Given the description of an element on the screen output the (x, y) to click on. 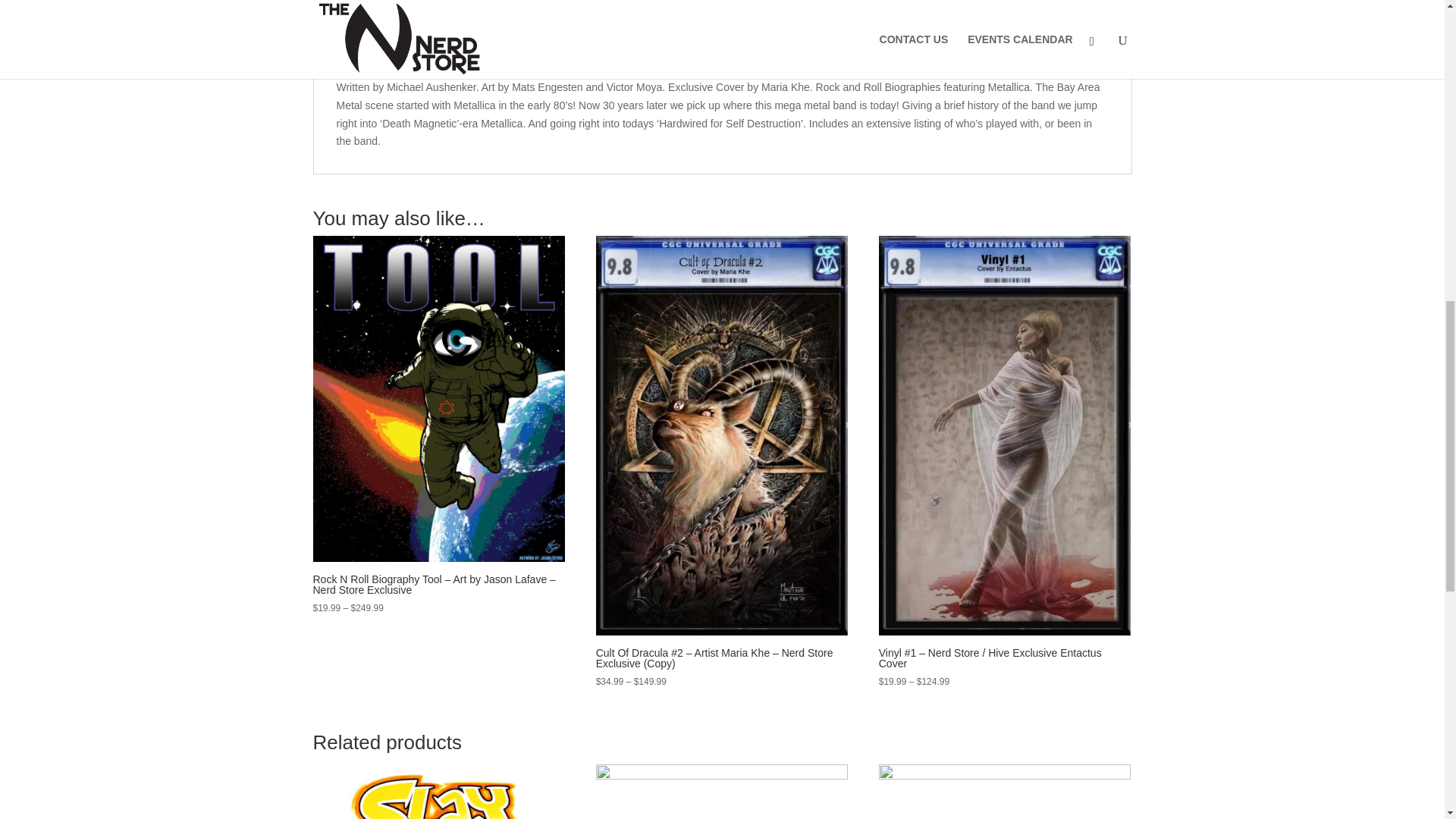
Additional information (477, 15)
Description (358, 15)
